Given the description of an element on the screen output the (x, y) to click on. 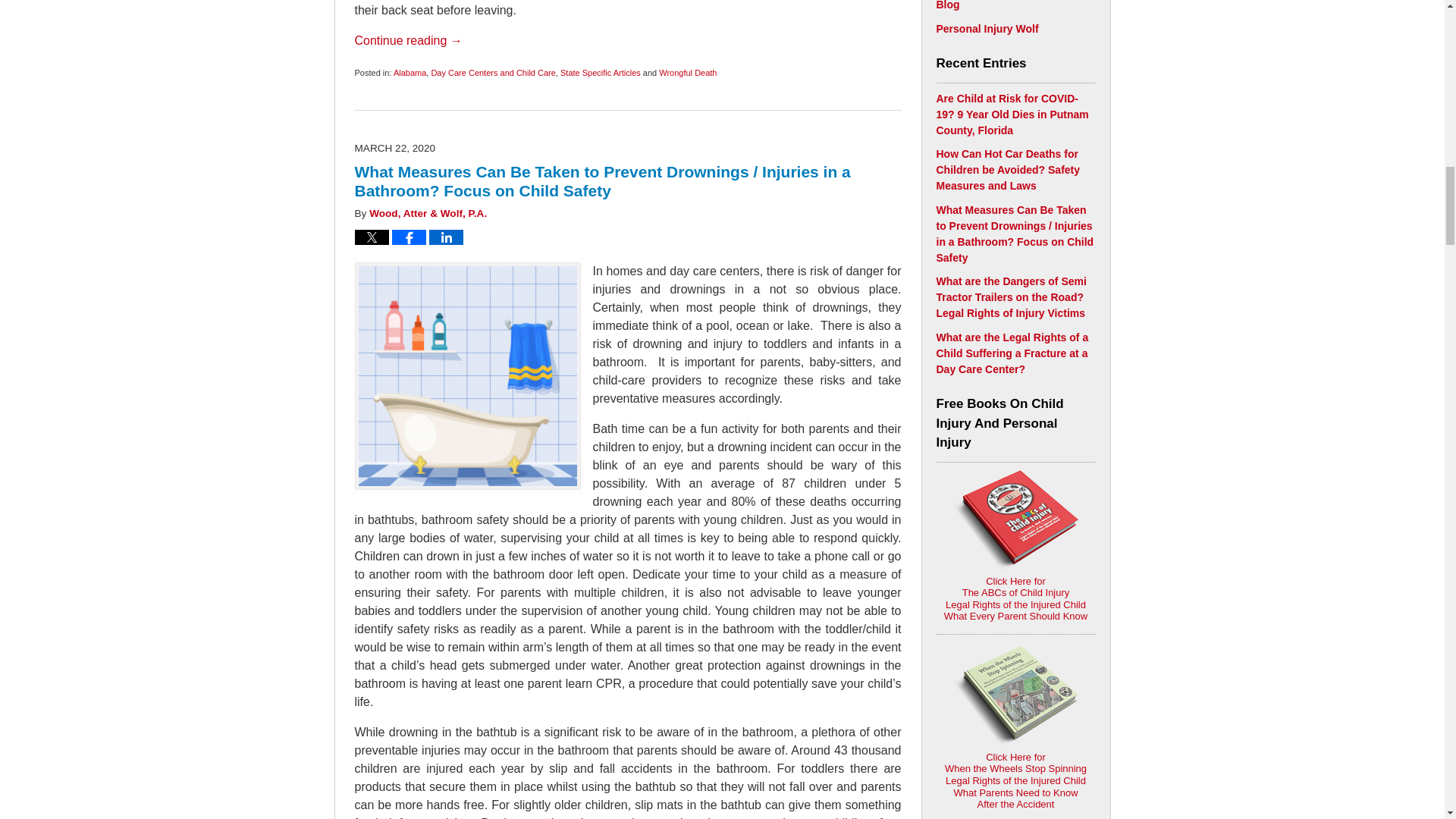
Day Care Centers and Child Care (492, 71)
Alabama (409, 71)
View all posts in State Specific Articles (600, 71)
View all posts in Day Care Centers and Child Care (492, 71)
View all posts in Alabama (409, 71)
View all posts in Wrongful Death (687, 71)
Wrongful Death (687, 71)
State Specific Articles (600, 71)
